Given the description of an element on the screen output the (x, y) to click on. 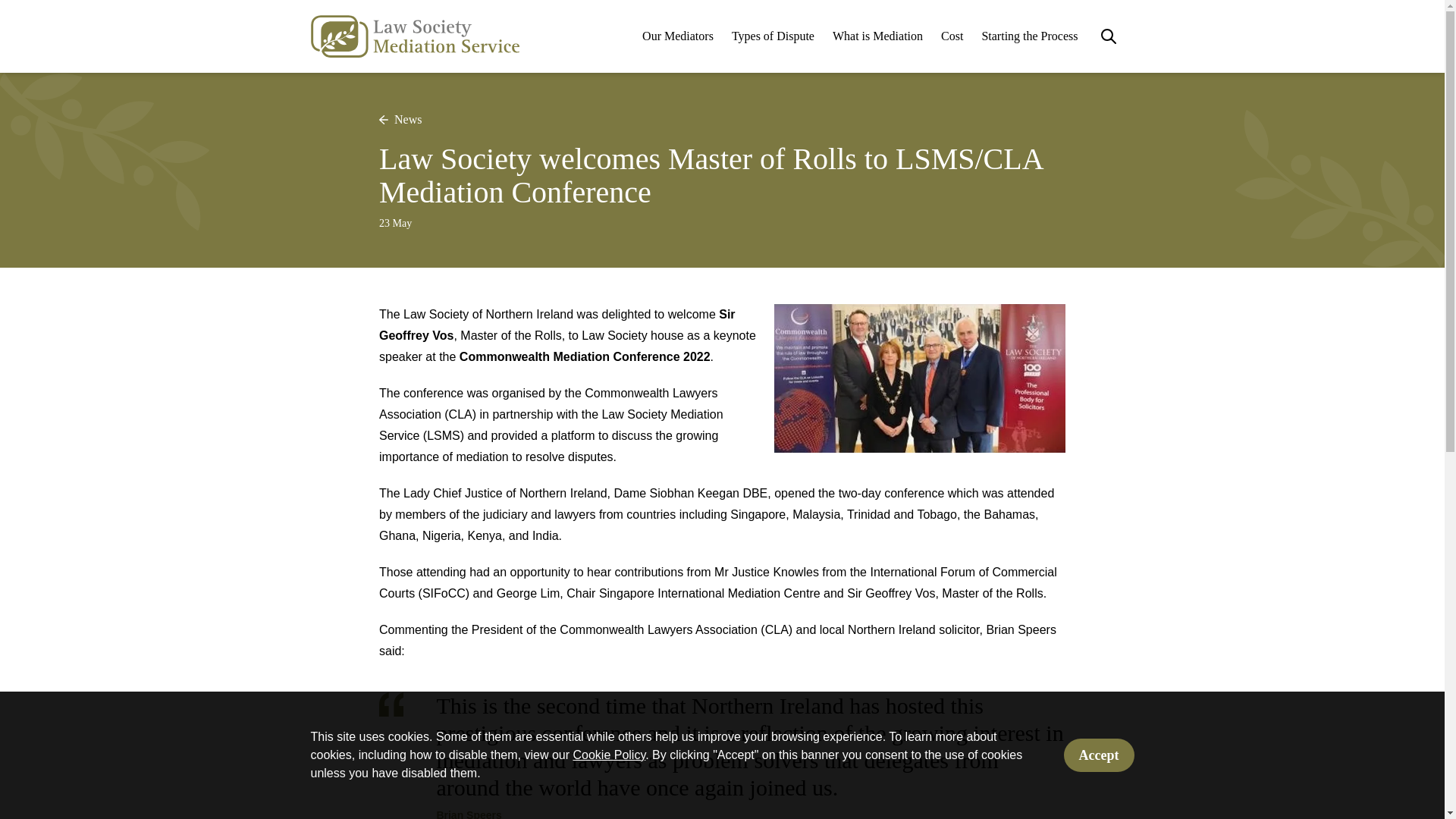
Search (1108, 36)
Cookie Policy (608, 754)
Cost (951, 36)
News (400, 119)
Types of Dispute (772, 36)
Accept (1099, 755)
Our Mediators (677, 36)
Starting the Process (1029, 36)
SKIP TO MAIN CONTENT (721, 0)
What is Mediation (877, 36)
